Given the description of an element on the screen output the (x, y) to click on. 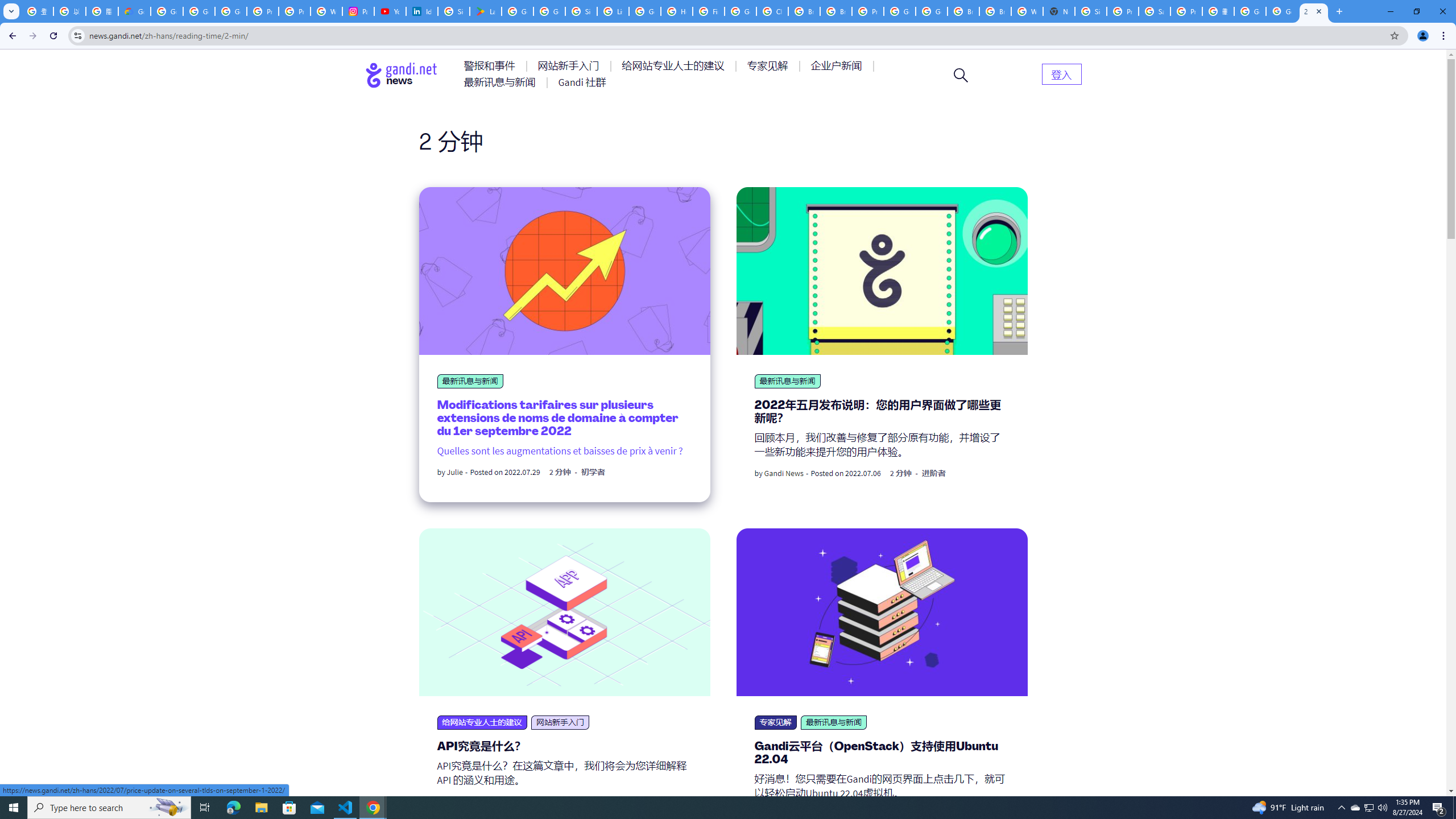
AutomationID: menu-item-77763 (674, 65)
AutomationID: menu-item-77761 (492, 65)
Sign in - Google Accounts (1091, 11)
Google Cloud Platform (899, 11)
Julie (454, 471)
